Given the description of an element on the screen output the (x, y) to click on. 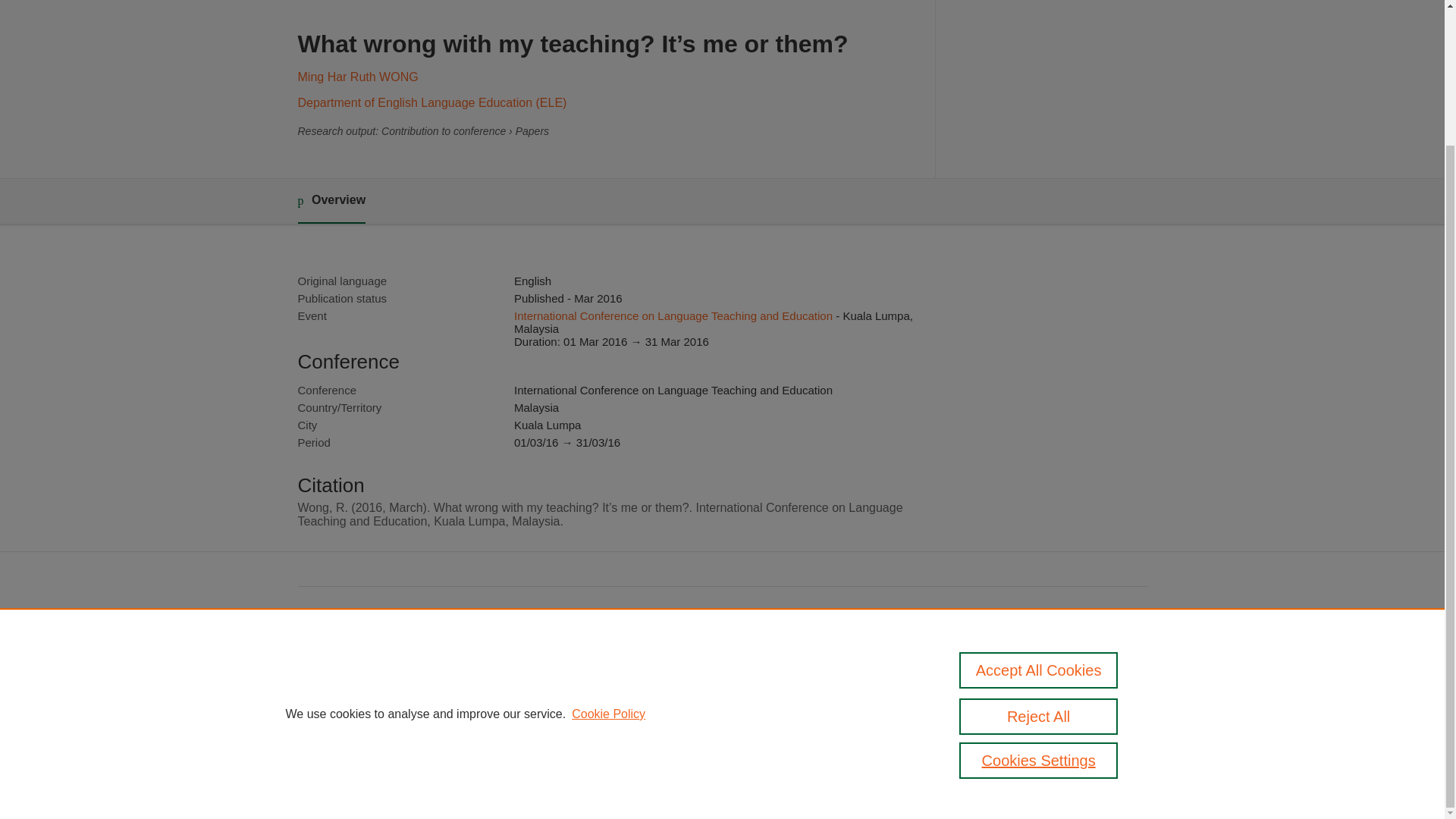
International Conference on Language Teaching and Education (672, 315)
Contact us (1122, 713)
Elsevier B.V. (506, 728)
About web accessibility (1020, 713)
Pure (362, 708)
Accept All Cookies (1038, 504)
use of cookies (796, 760)
Overview (331, 201)
Reject All (1038, 550)
Ming Har Ruth WONG (357, 76)
